Given the description of an element on the screen output the (x, y) to click on. 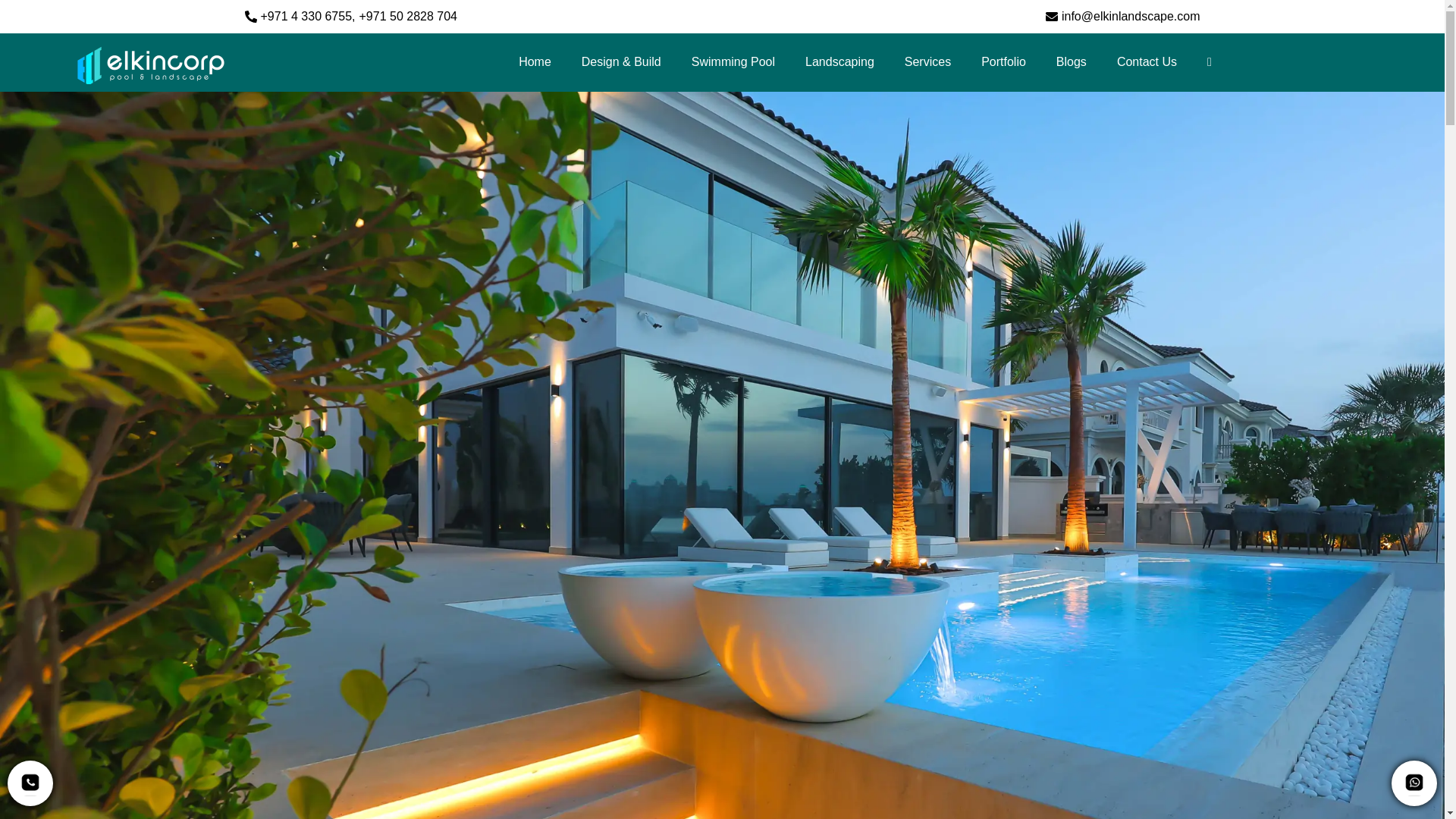
Services (927, 62)
Contact Us (1147, 62)
Swimming Pool (733, 62)
cropped-elkikn-logo-1.webp (149, 62)
Landscaping (839, 62)
Portfolio (1003, 62)
Home (534, 62)
Blogs (1071, 62)
